Given the description of an element on the screen output the (x, y) to click on. 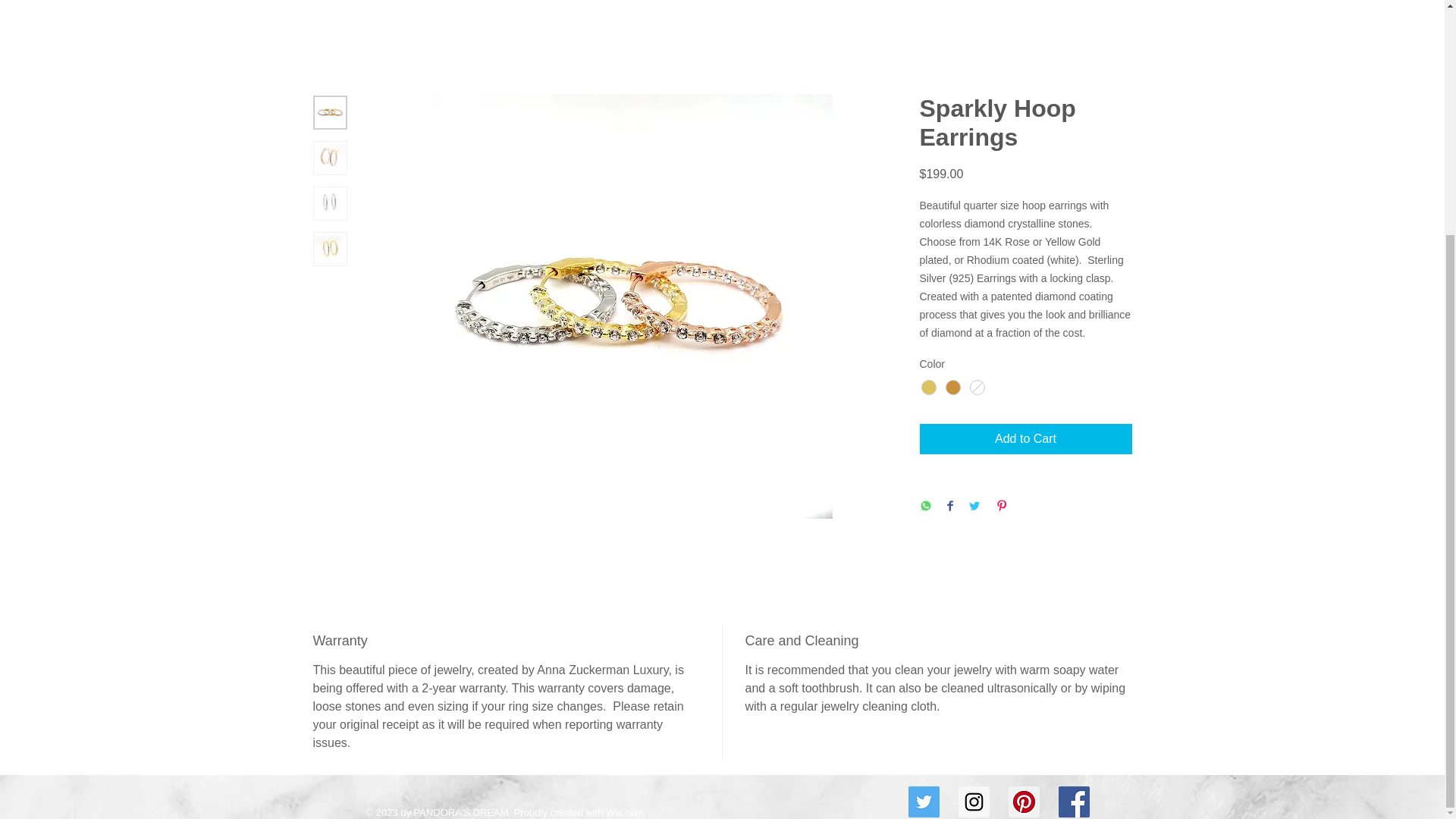
Wix.com (624, 812)
Add to Cart (1024, 439)
